Given the description of an element on the screen output the (x, y) to click on. 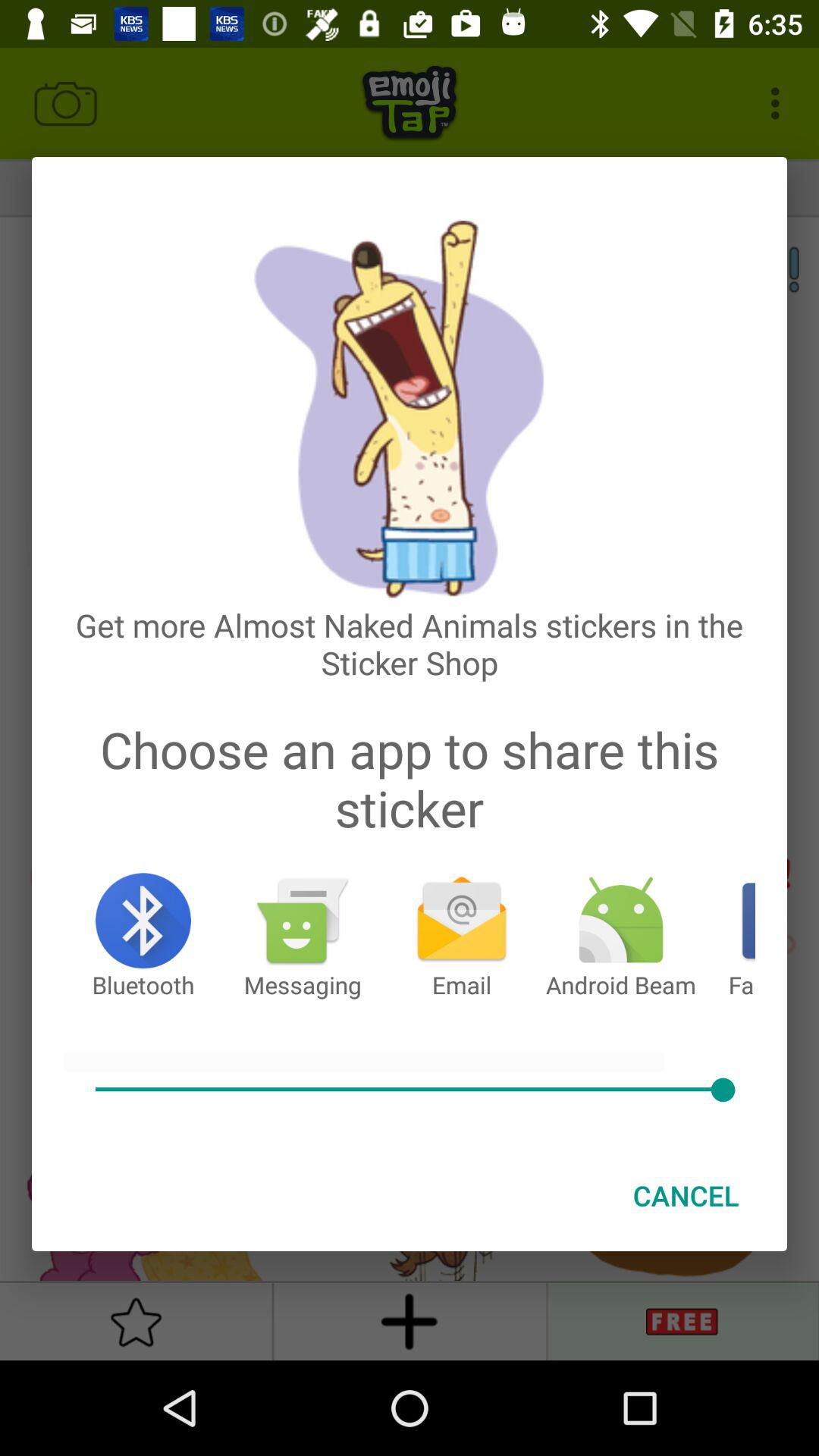
tap cancel icon (686, 1195)
